Given the description of an element on the screen output the (x, y) to click on. 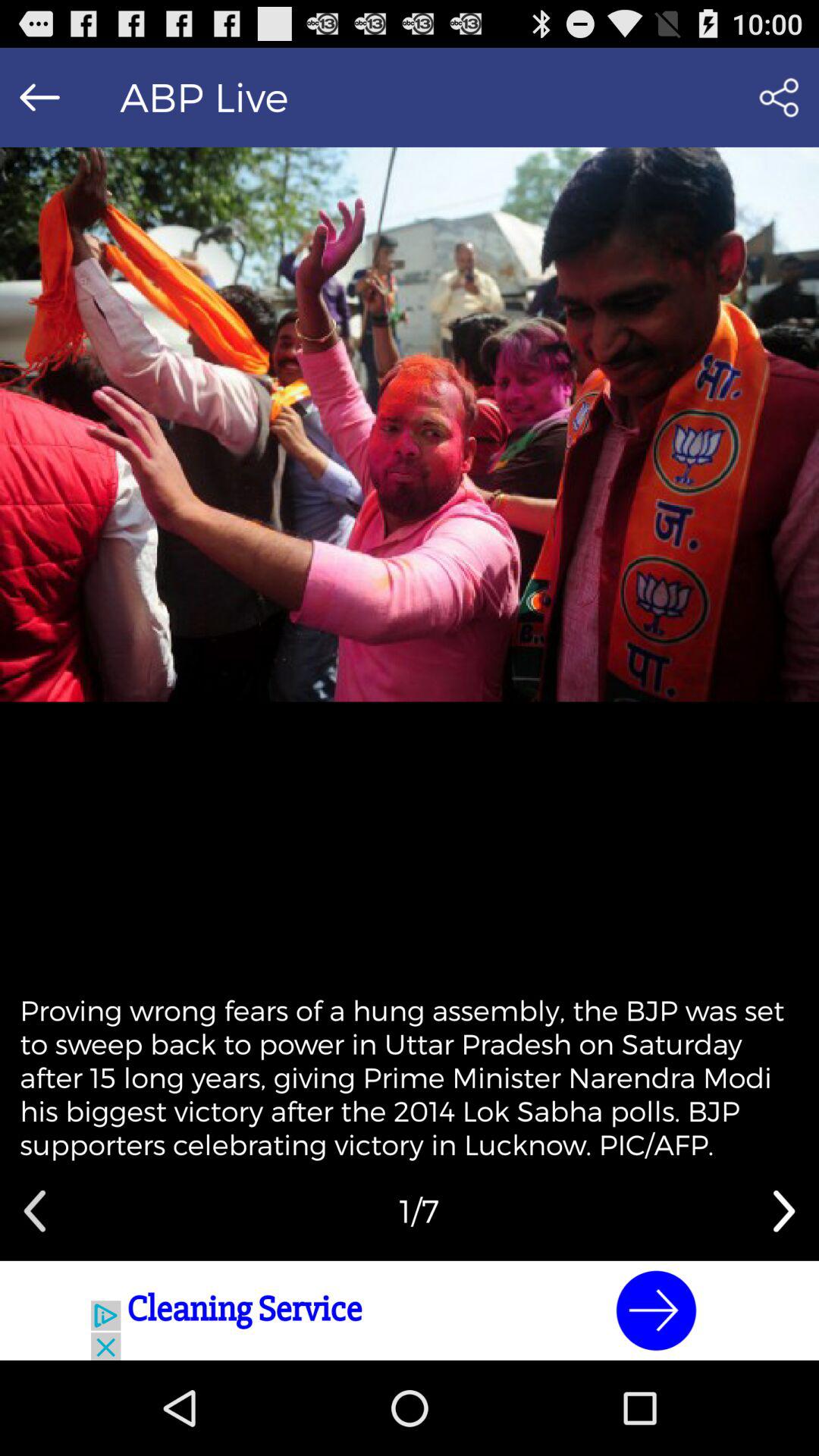
go back (39, 97)
